Given the description of an element on the screen output the (x, y) to click on. 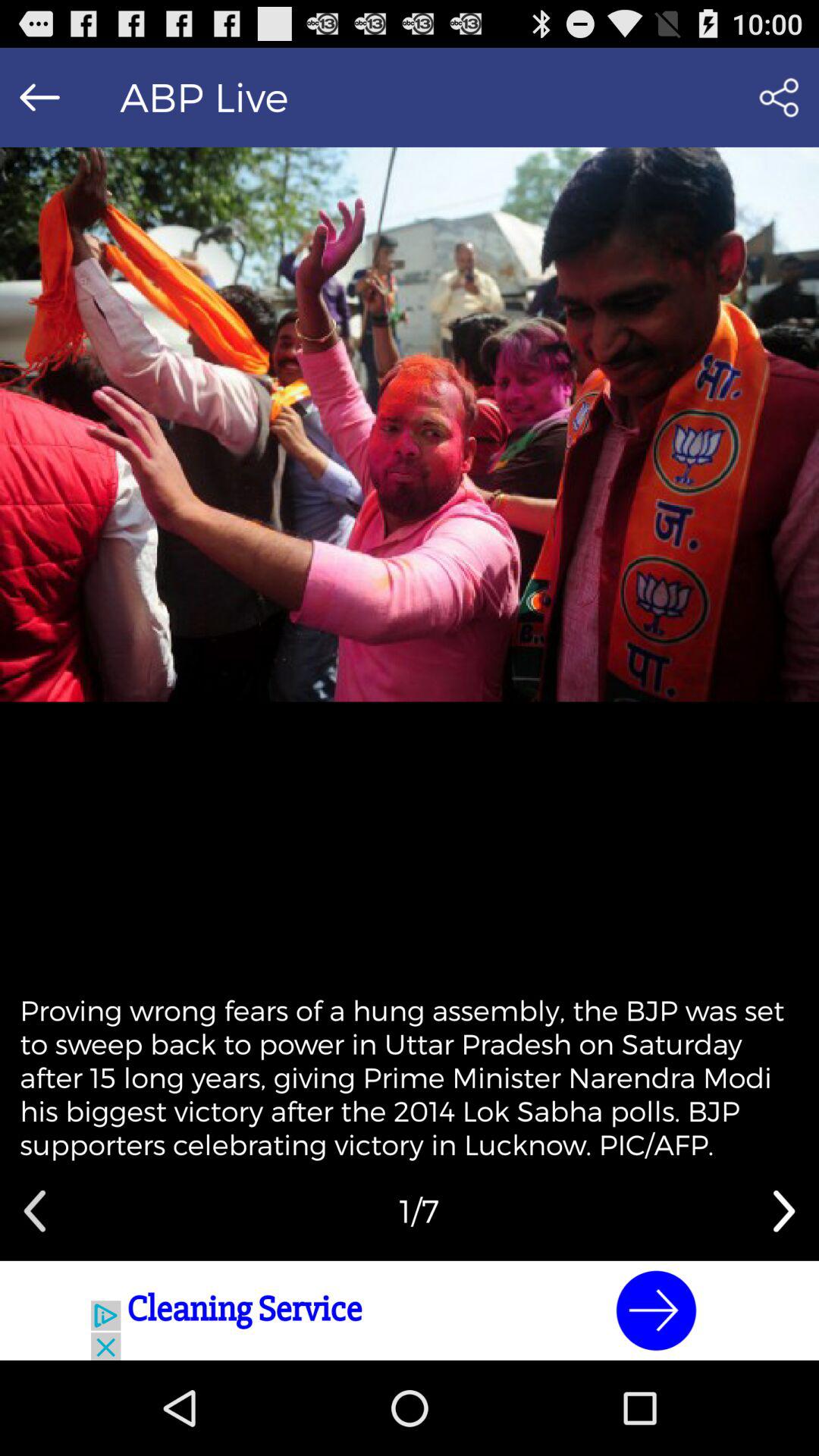
go back (39, 97)
